Given the description of an element on the screen output the (x, y) to click on. 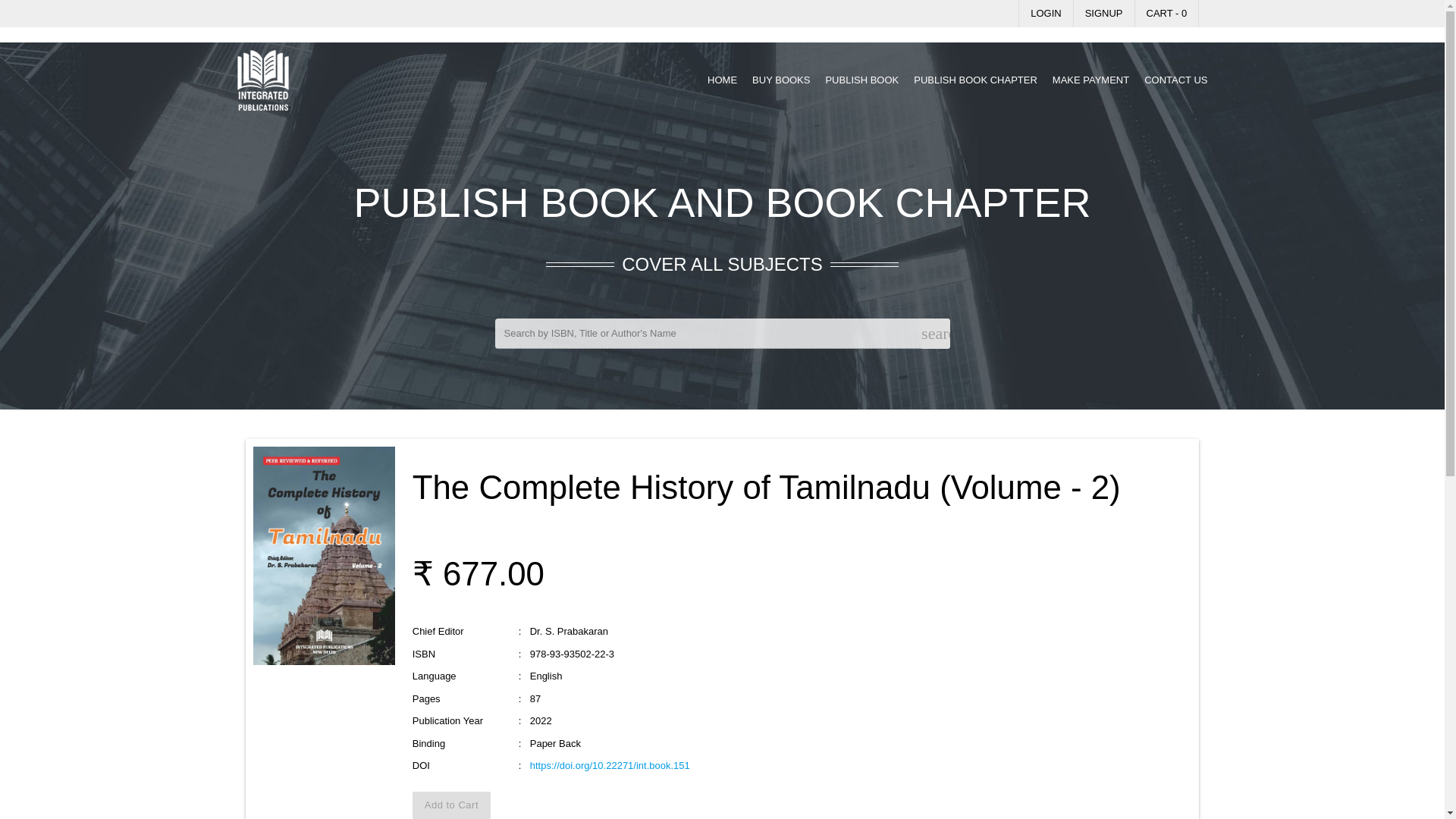
Add to Cart (451, 805)
MAKE PAYMENT (1090, 80)
PUBLISH BOOK CHAPTER (975, 80)
HOME (721, 80)
BUY BOOKS (780, 80)
search (935, 333)
CONTACT US (1175, 80)
CART - 0 (1166, 13)
LOGIN (1044, 13)
PUBLISH BOOK (861, 80)
SIGNUP (1103, 13)
